Given the description of an element on the screen output the (x, y) to click on. 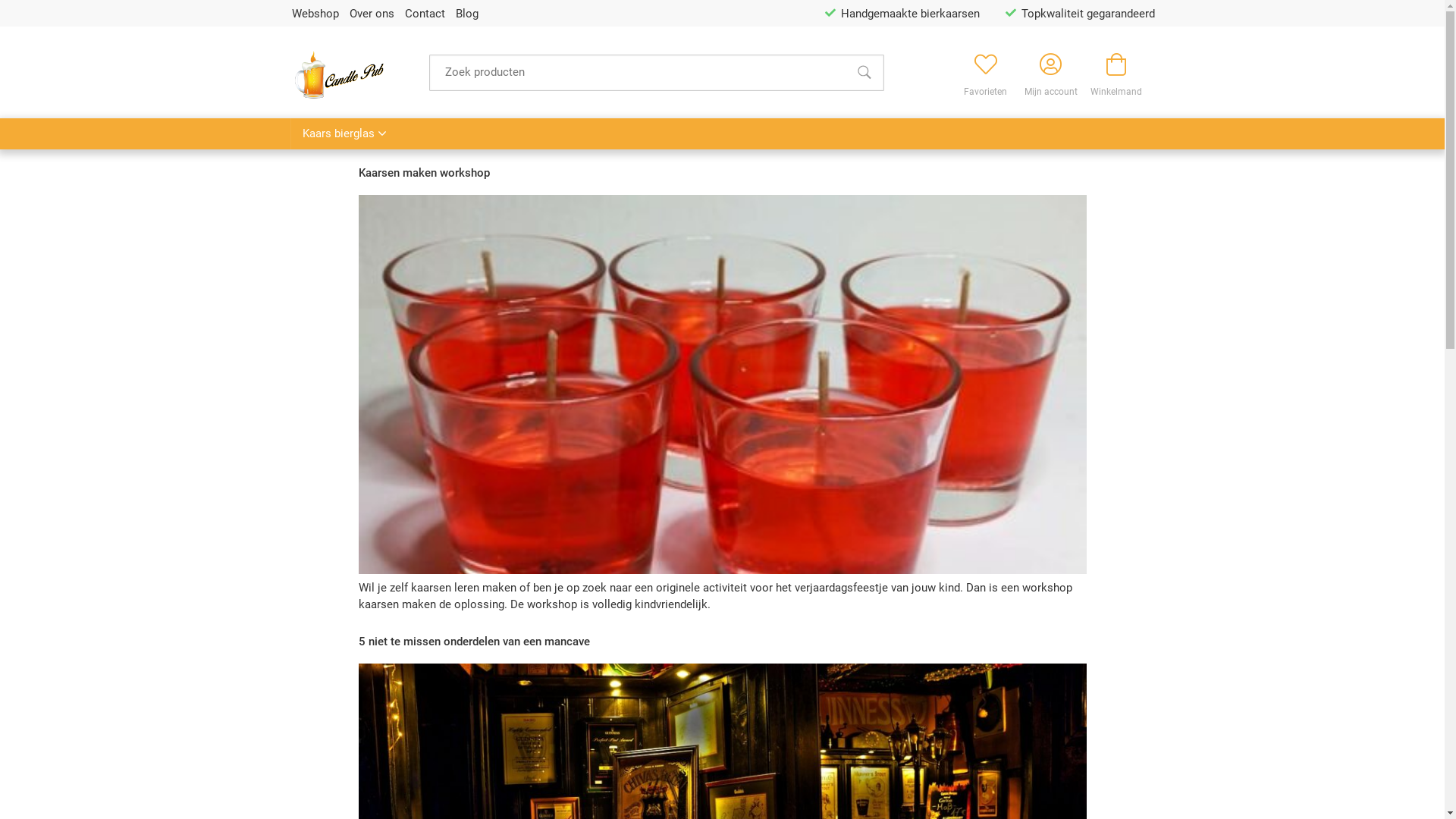
Contact Element type: text (424, 13)
Webshop Element type: text (314, 13)
Over ons Element type: text (371, 13)
Blog Element type: text (466, 13)
Kaarsen maken workshop Element type: text (423, 172)
Kaars bierglas Element type: text (342, 133)
5 niet te missen onderdelen van een mancave Element type: text (473, 641)
